Given the description of an element on the screen output the (x, y) to click on. 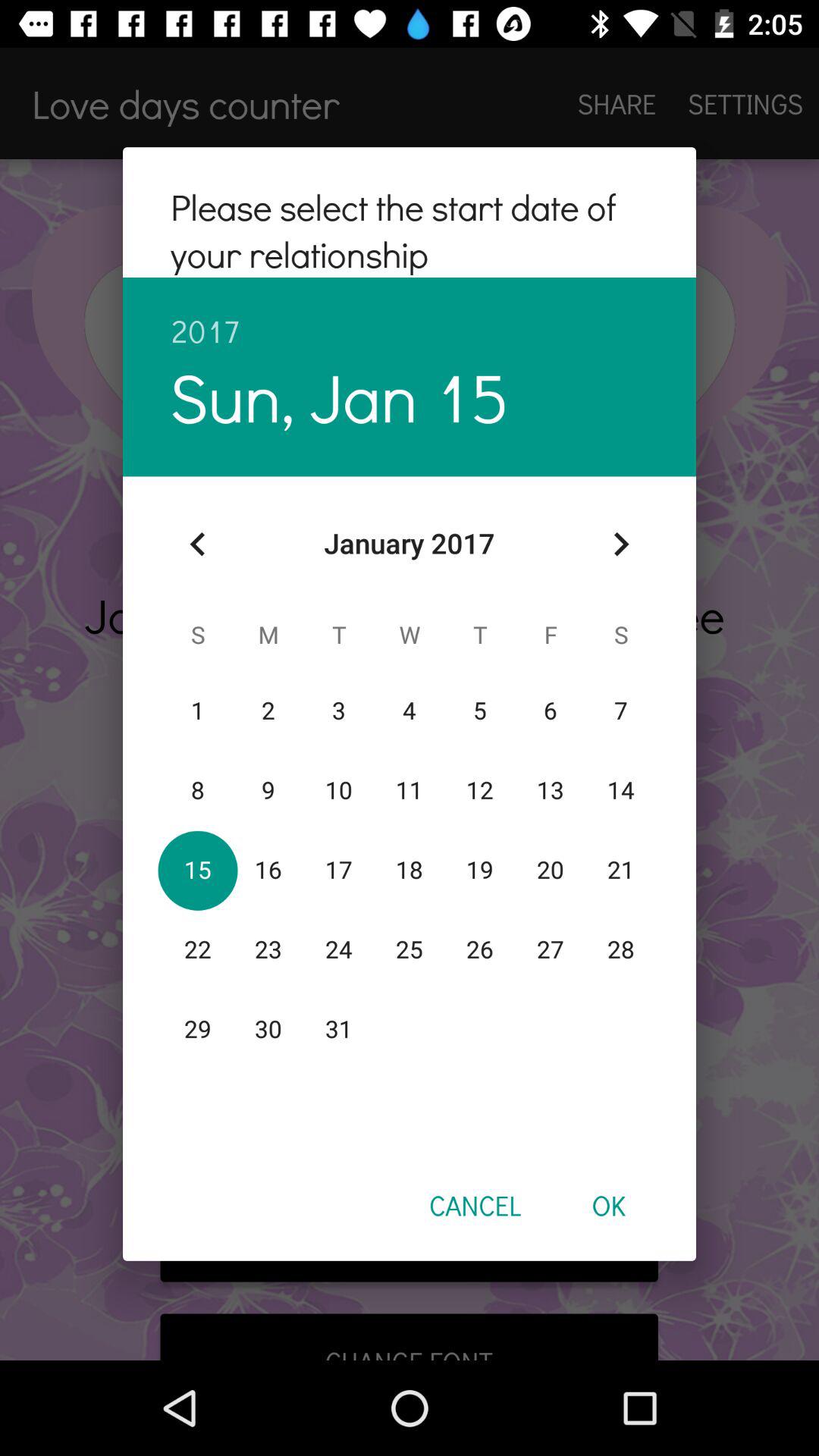
click the icon next to cancel item (608, 1204)
